Given the description of an element on the screen output the (x, y) to click on. 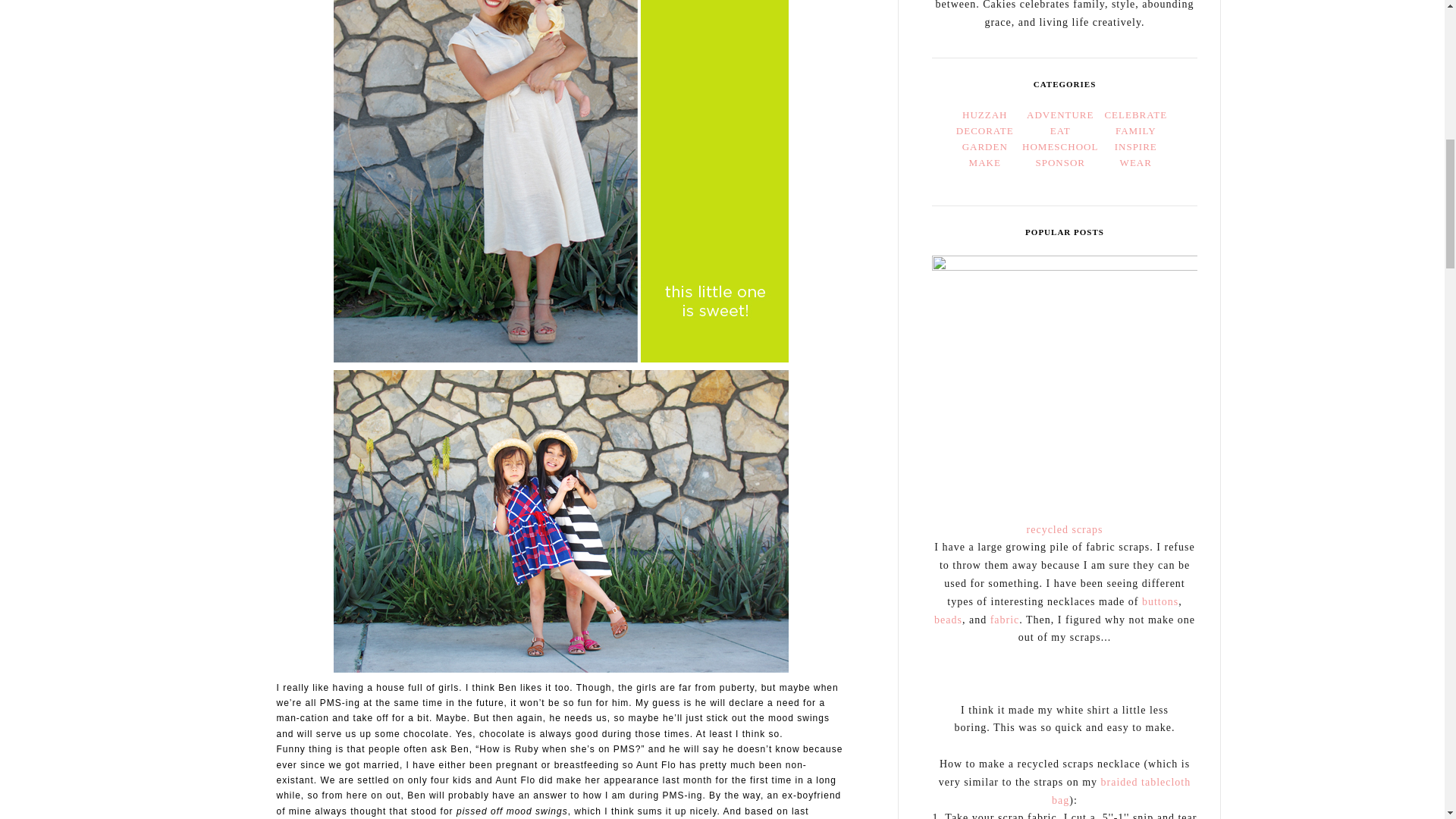
the girls by rubyellen, on Flickr (561, 523)
the girls by rubyellen, on Flickr (561, 136)
